Given the description of an element on the screen output the (x, y) to click on. 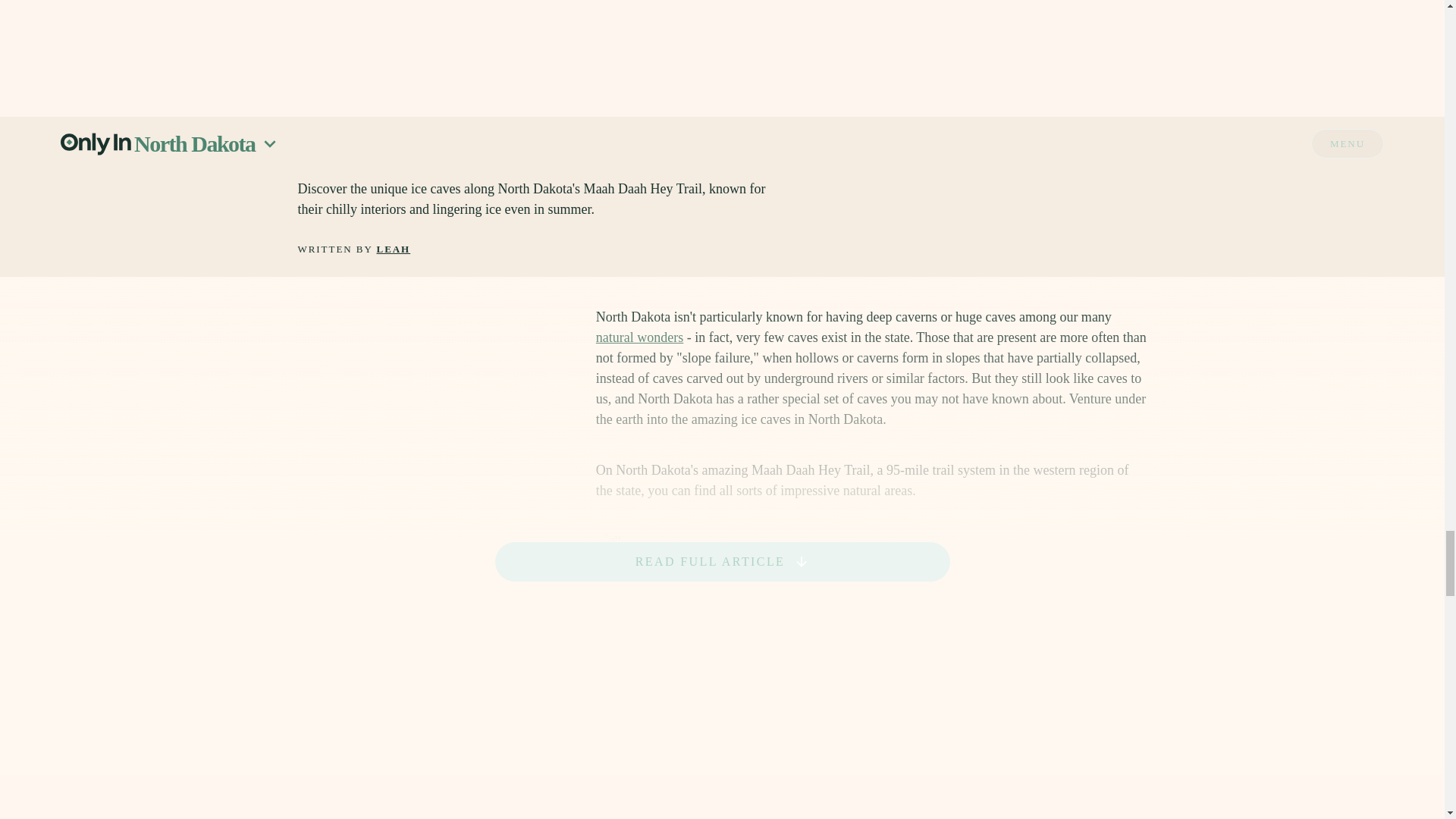
SHARE LINK (1091, 18)
natural wonders (638, 337)
NATURE (321, 18)
LEAH (393, 249)
